Given the description of an element on the screen output the (x, y) to click on. 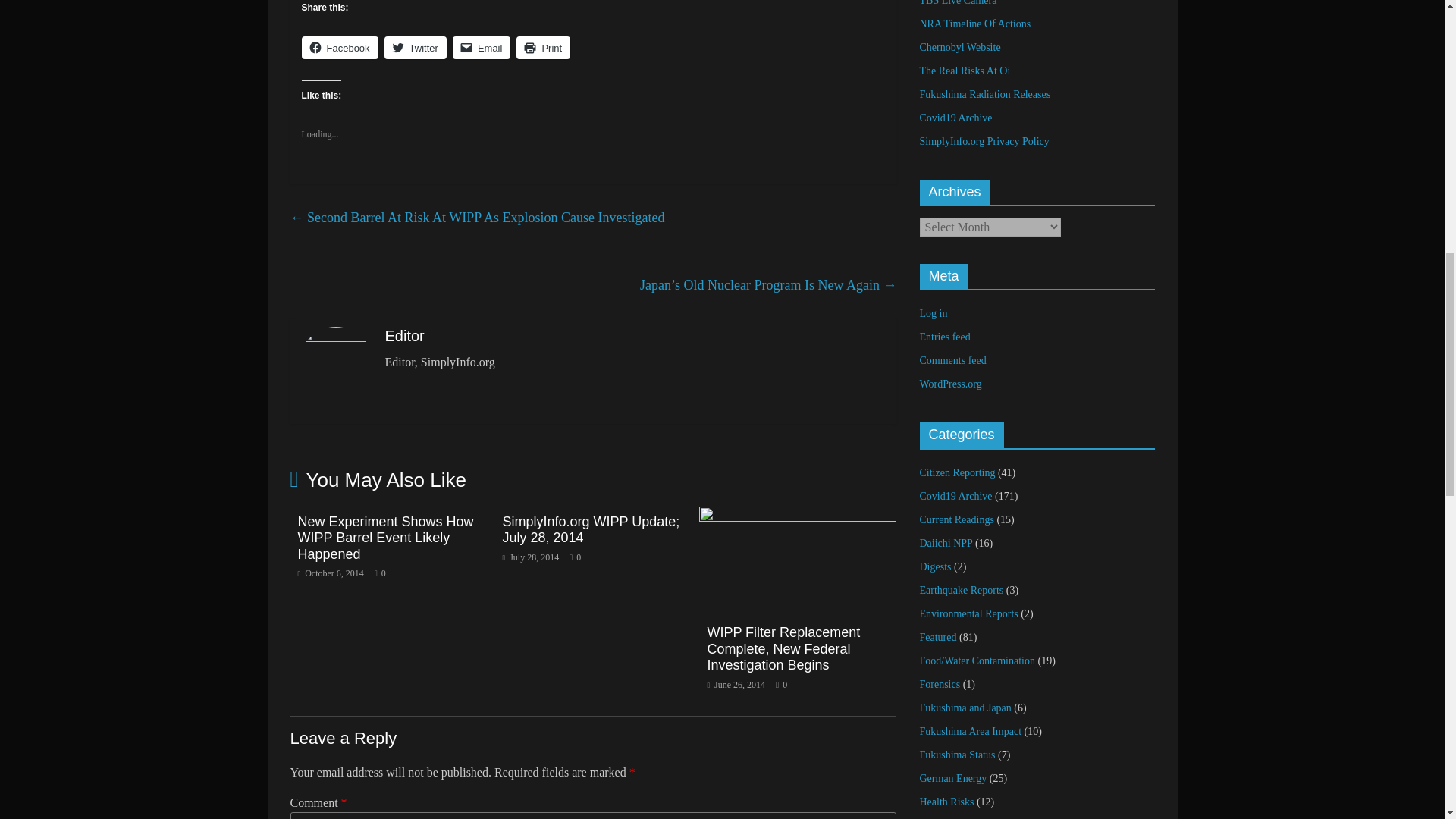
New Experiment Shows How WIPP Barrel Event Likely Happened (385, 537)
Click to share on Twitter (415, 47)
Click to email a link to a friend (481, 47)
Click to share on Facebook (339, 47)
Click to print (543, 47)
3:21 pm (329, 573)
